Given the description of an element on the screen output the (x, y) to click on. 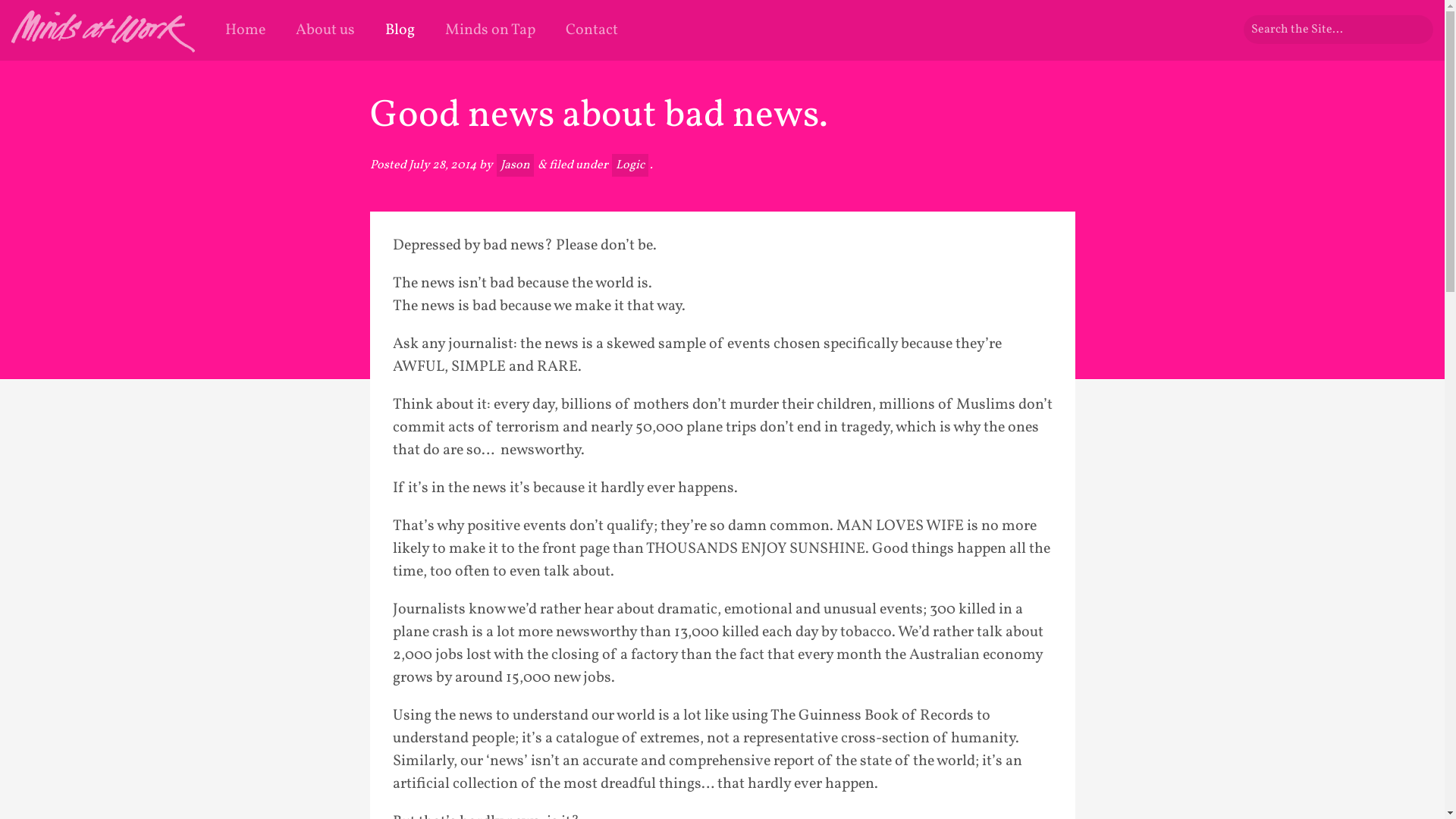
Logic Element type: text (629, 164)
Contact Element type: text (591, 30)
Blog Element type: text (399, 30)
Minds on Tap Element type: text (489, 30)
Jason Element type: text (514, 164)
Home Element type: text (245, 30)
About us Element type: text (325, 30)
